Given the description of an element on the screen output the (x, y) to click on. 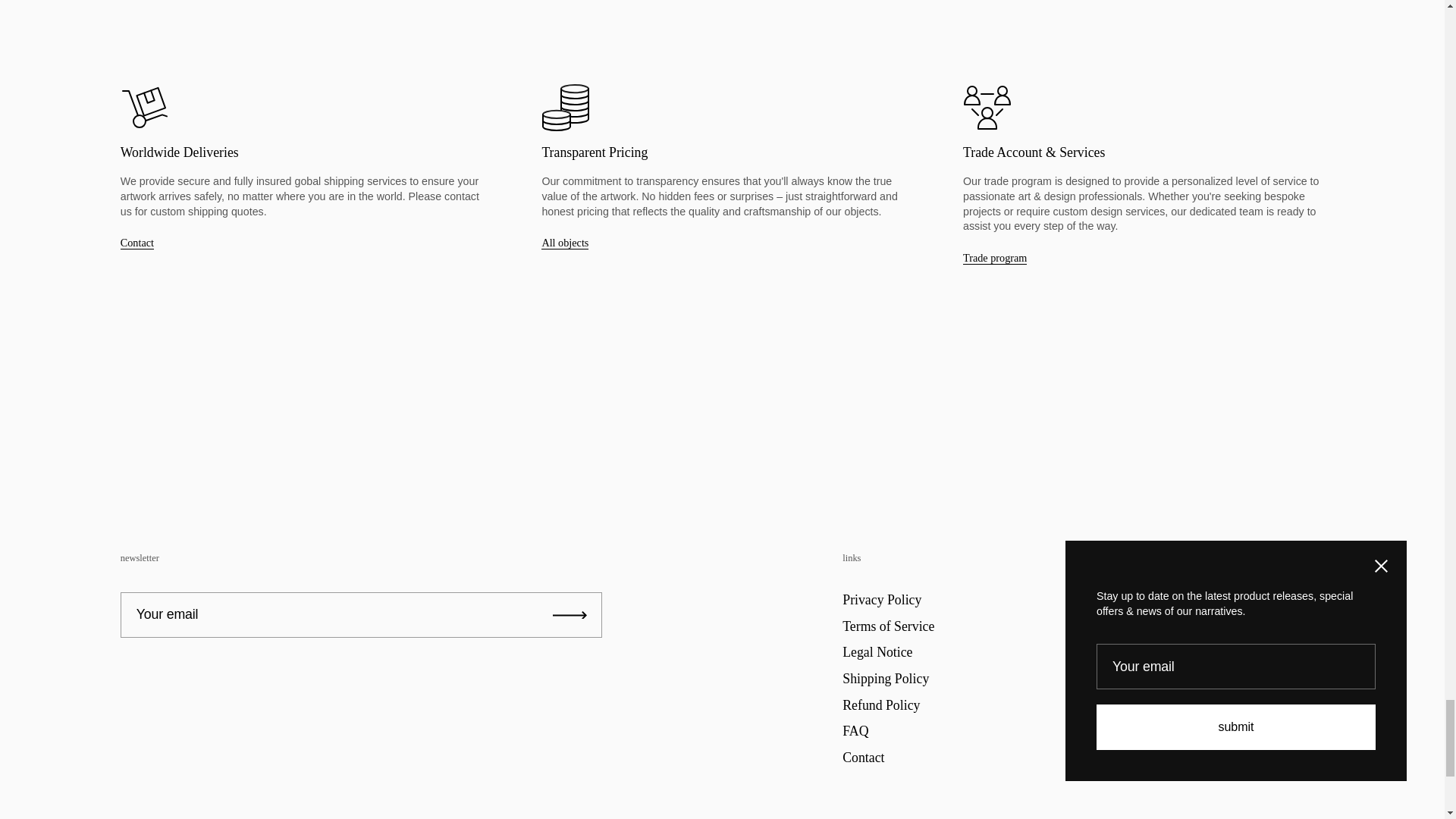
Explore the collections (564, 242)
Contact (137, 242)
Trade Interior Account (994, 257)
